Given the description of an element on the screen output the (x, y) to click on. 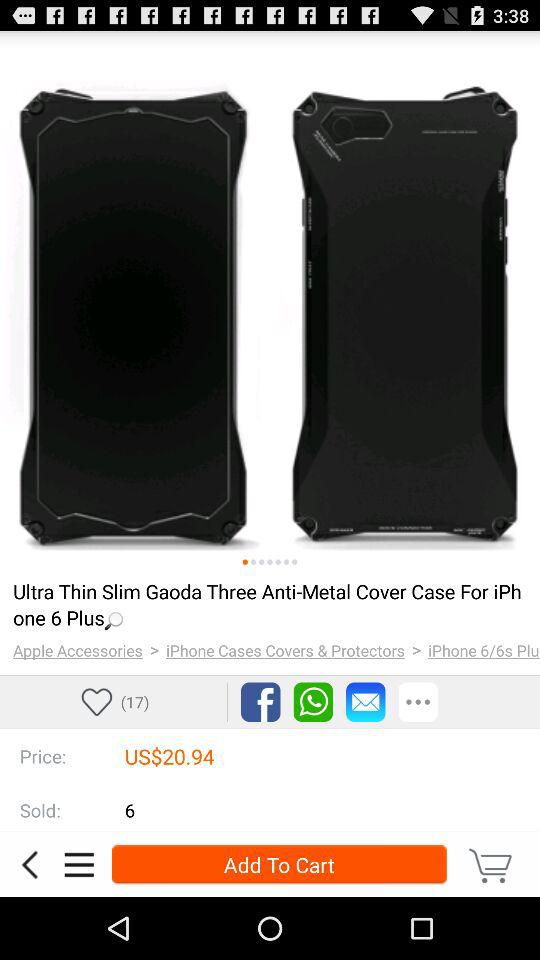
switch to additional products (261, 561)
